Given the description of an element on the screen output the (x, y) to click on. 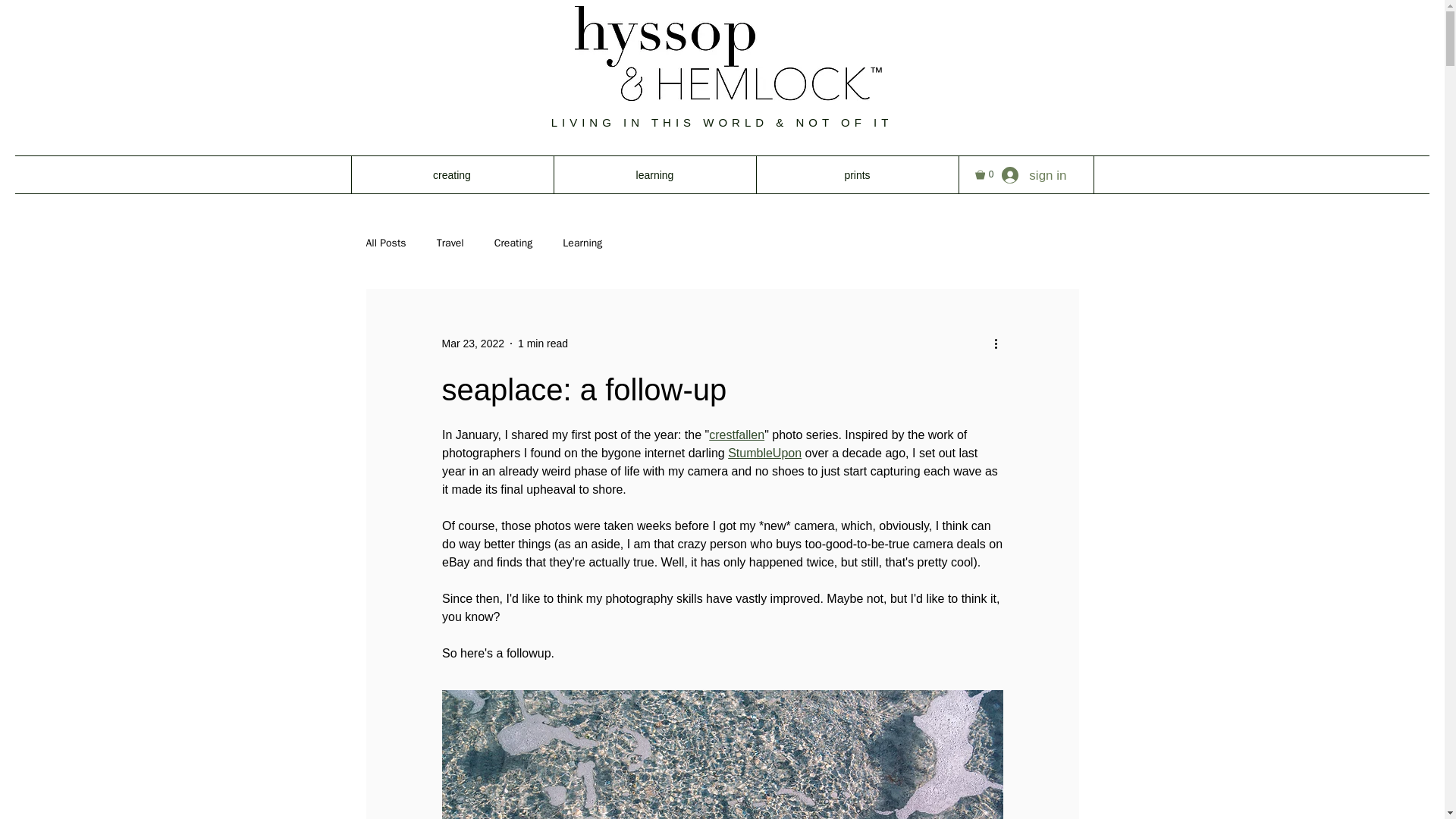
Learning (582, 243)
sign in (1034, 175)
prints (856, 175)
StumbleUpon (765, 452)
1 min read (542, 342)
Travel (450, 243)
learning (654, 175)
Creating (513, 243)
Mar 23, 2022 (472, 342)
All Posts (385, 243)
crestfallen (736, 434)
creating (451, 175)
